Given the description of an element on the screen output the (x, y) to click on. 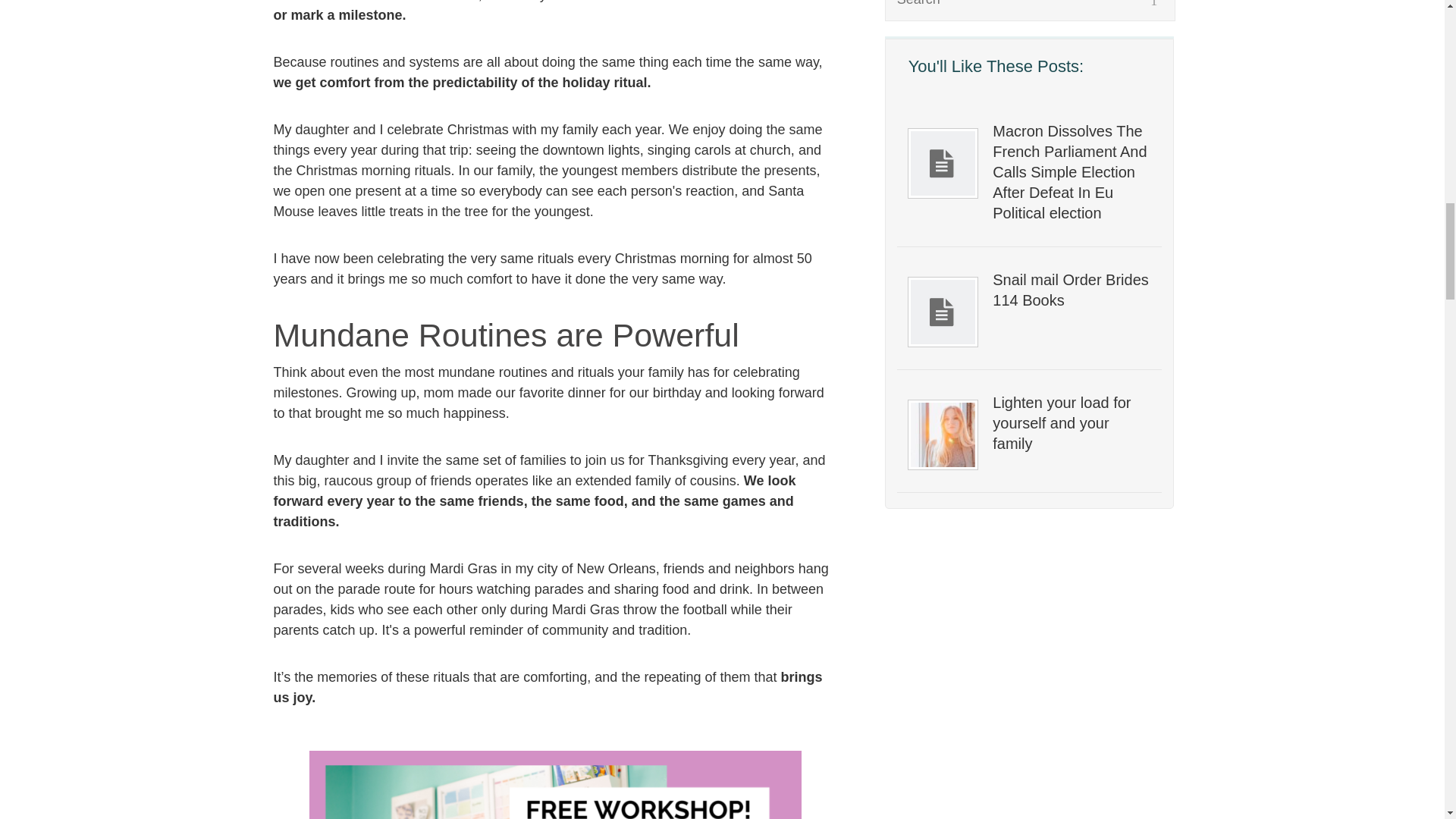
Lighten your load for yourself and your family (1071, 423)
Snail mail Order Brides 114 Books (1071, 290)
